Given the description of an element on the screen output the (x, y) to click on. 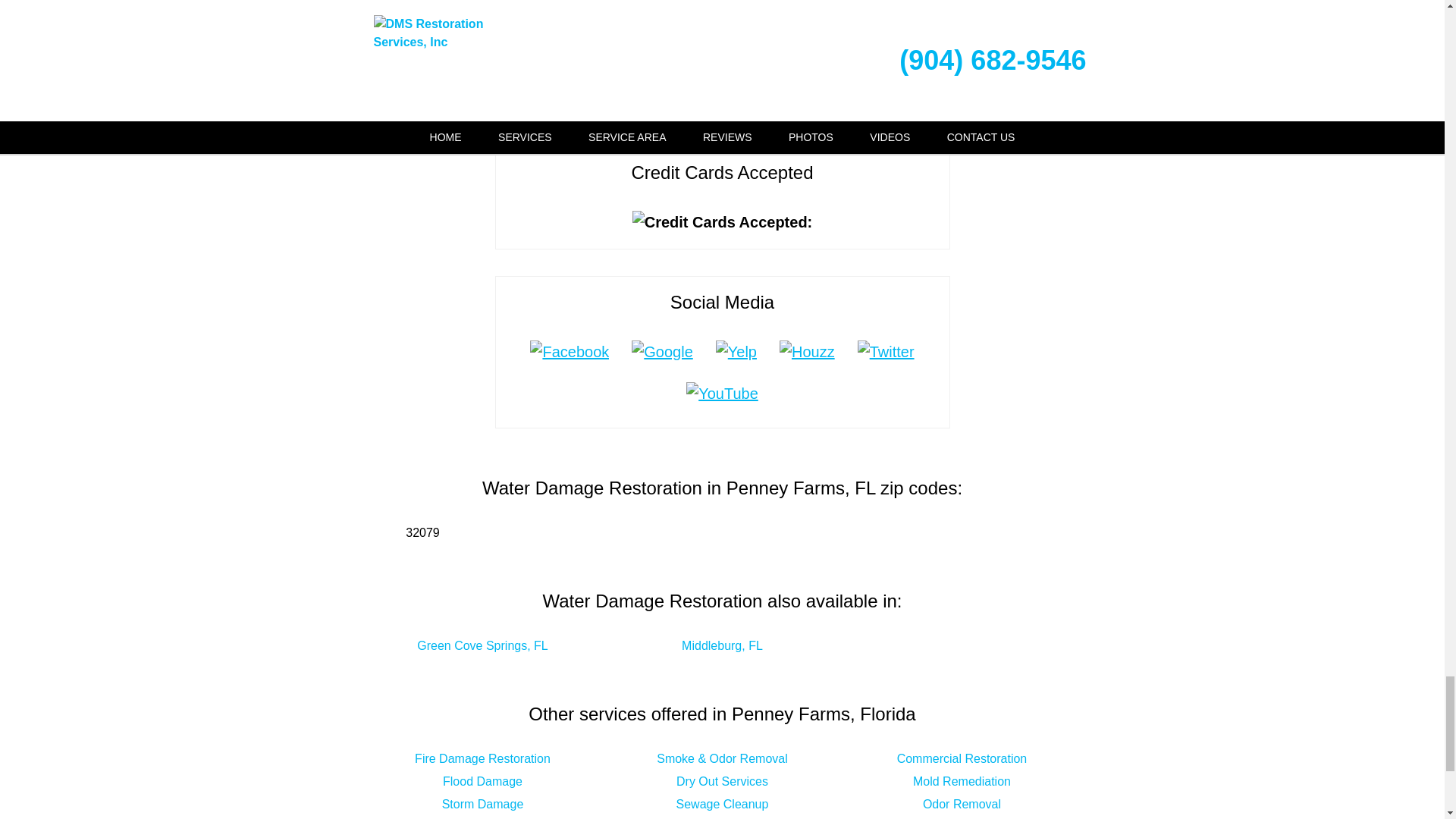
Submit (722, 88)
Houzz (806, 351)
YouTube (722, 393)
Twitter (885, 351)
Facebook (569, 351)
Google (662, 351)
Yelp (736, 351)
Green Cove Springs, FL (482, 645)
